Given the description of an element on the screen output the (x, y) to click on. 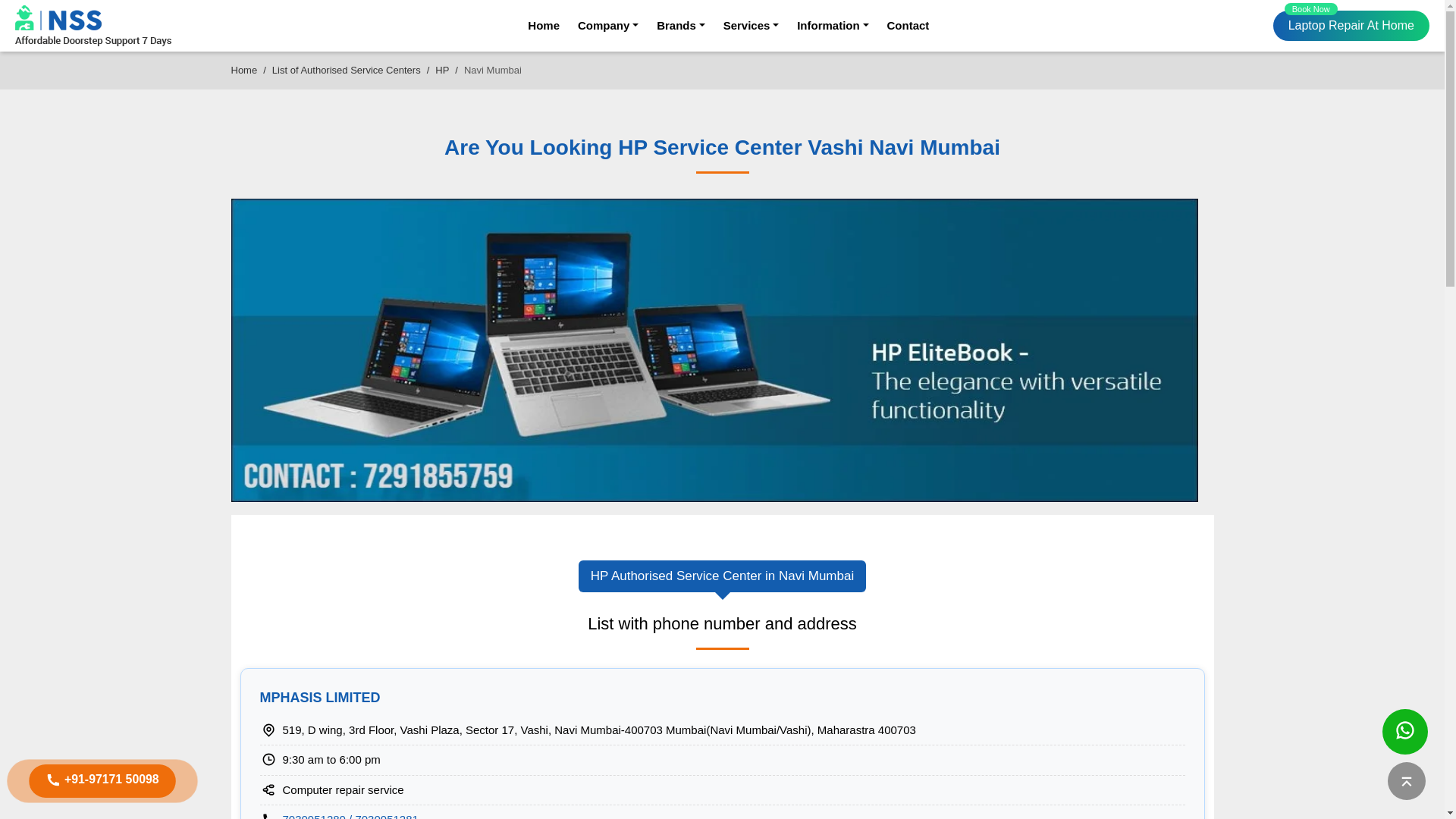
Contact (908, 26)
Company (1350, 25)
HP Authorised Service Center in Navi Mumbai (608, 26)
Services (722, 576)
Brands (750, 26)
Information (680, 26)
Home (831, 26)
List of Authorised Service Centers (543, 26)
Home (346, 70)
